Given the description of an element on the screen output the (x, y) to click on. 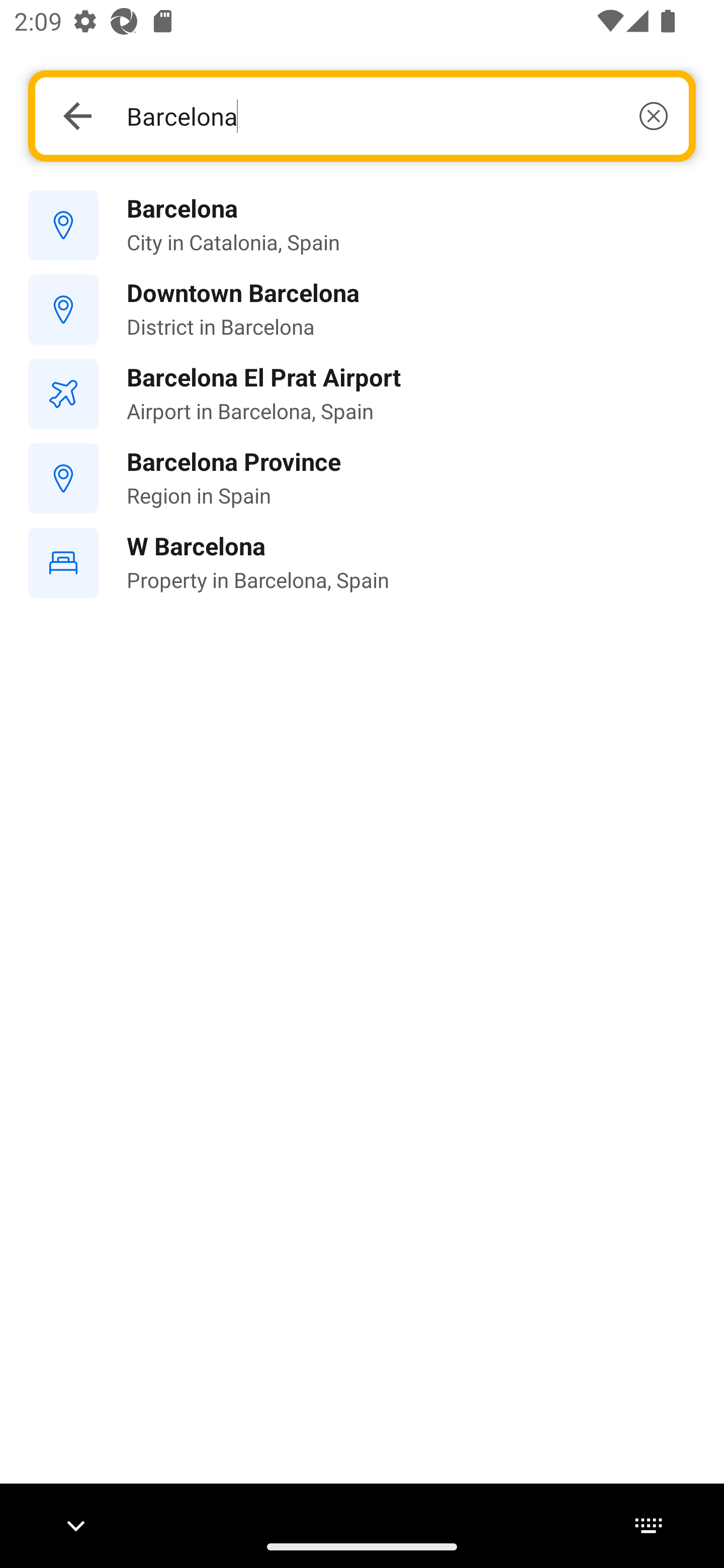
Barcelona (396, 115)
Barcelona City in Catalonia, Spain (362, 225)
Downtown Barcelona District in Barcelona (362, 309)
Barcelona Province Region in Spain (362, 477)
W Barcelona Property in Barcelona, Spain (362, 562)
